Given the description of an element on the screen output the (x, y) to click on. 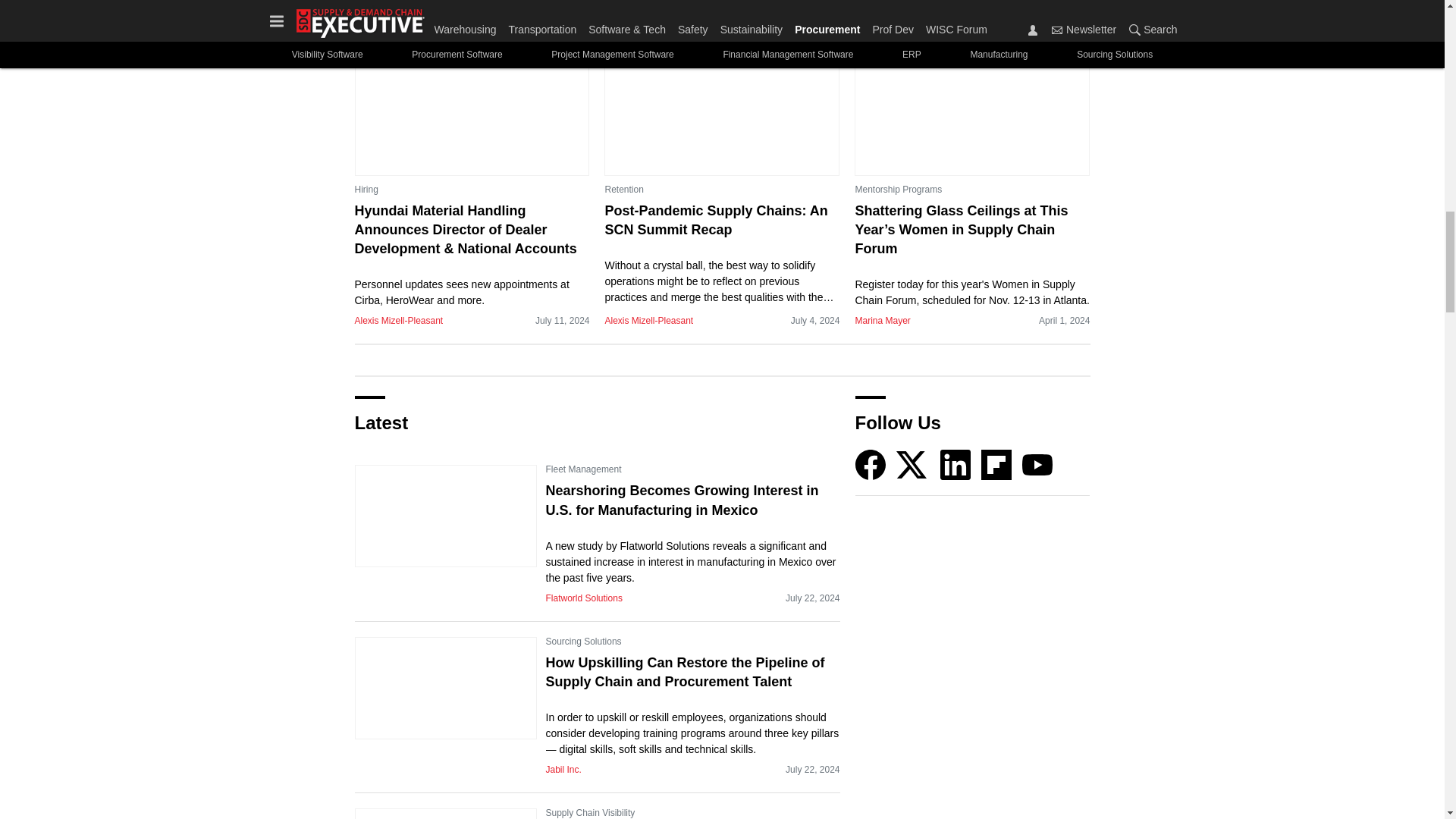
YouTube icon (1037, 464)
Flipboard icon (996, 464)
LinkedIn icon (955, 464)
Twitter X icon (911, 464)
Facebook icon (870, 464)
